Given the description of an element on the screen output the (x, y) to click on. 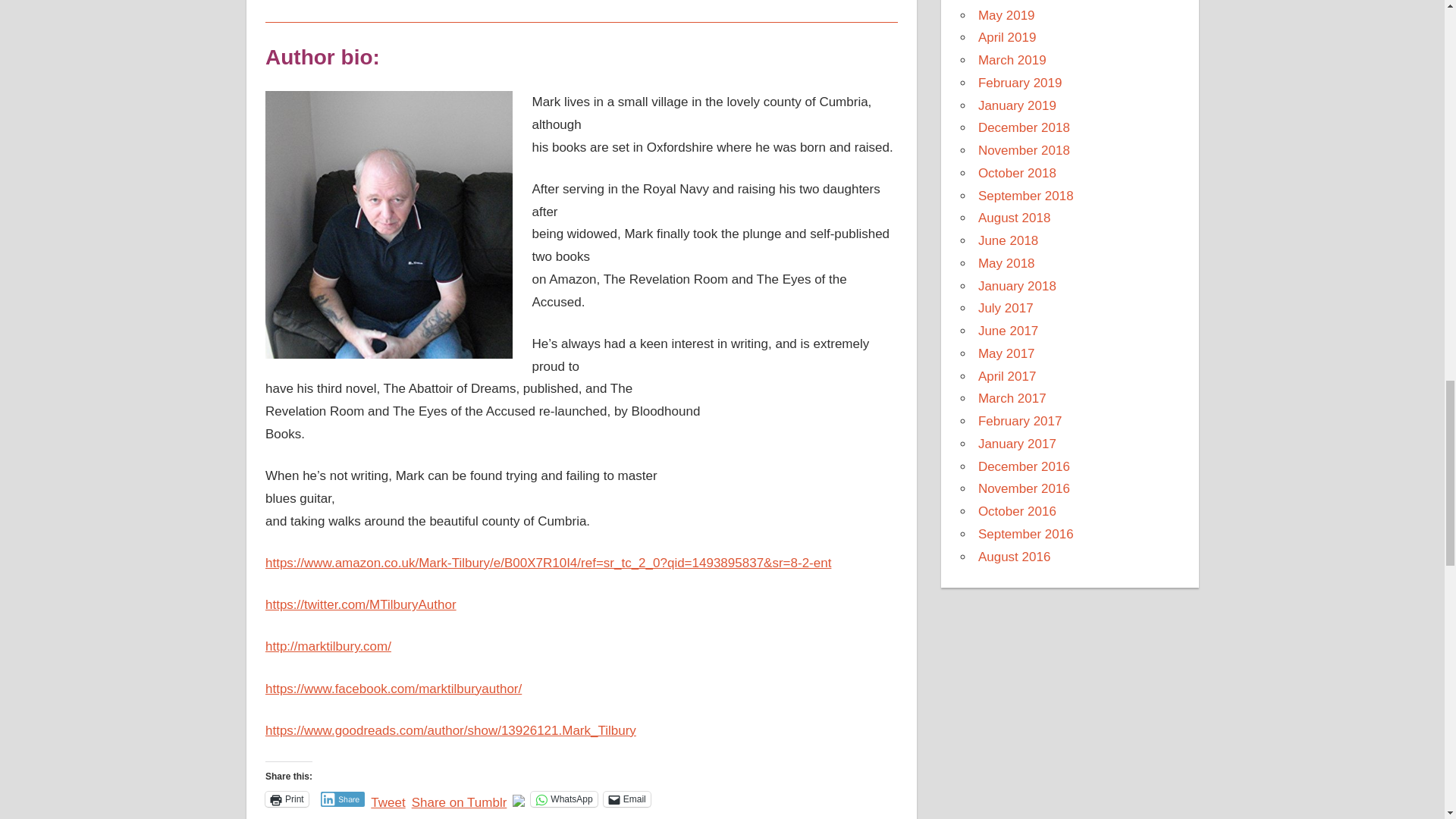
Click to share on WhatsApp (563, 798)
WhatsApp (563, 798)
Share (342, 798)
Print (286, 798)
Tweet (387, 798)
Click to print (286, 798)
Email (627, 798)
Share on Tumblr (459, 798)
Click to email a link to a friend (627, 798)
Share on Tumblr (459, 798)
